Given the description of an element on the screen output the (x, y) to click on. 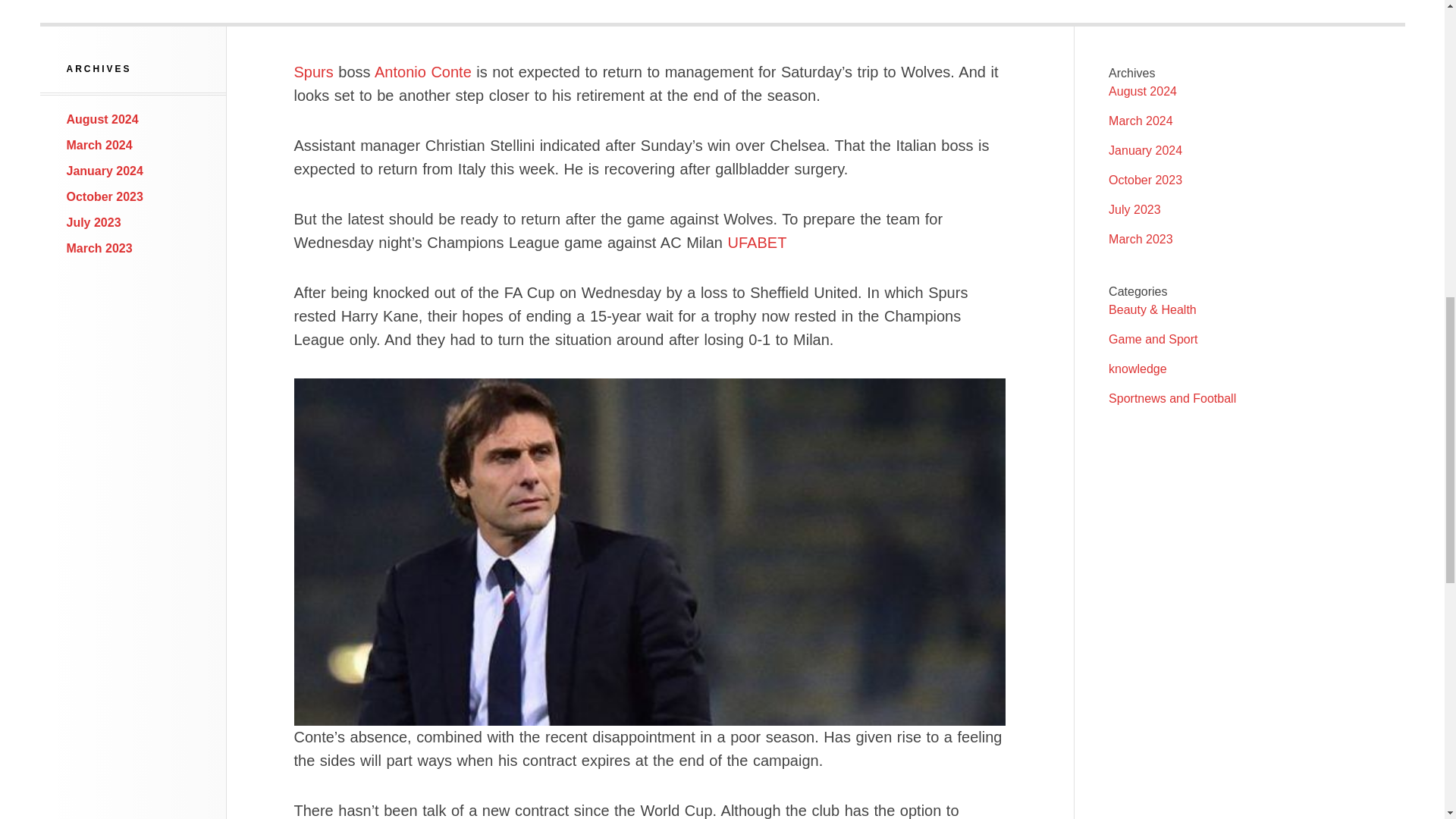
July 2023 (93, 222)
March 2023 (99, 247)
March 2024 (99, 144)
August 2024 (102, 119)
Spurs (313, 71)
October 2023 (104, 196)
Antonio Conte (422, 71)
January 2024 (104, 170)
UFABET (757, 242)
